Given the description of an element on the screen output the (x, y) to click on. 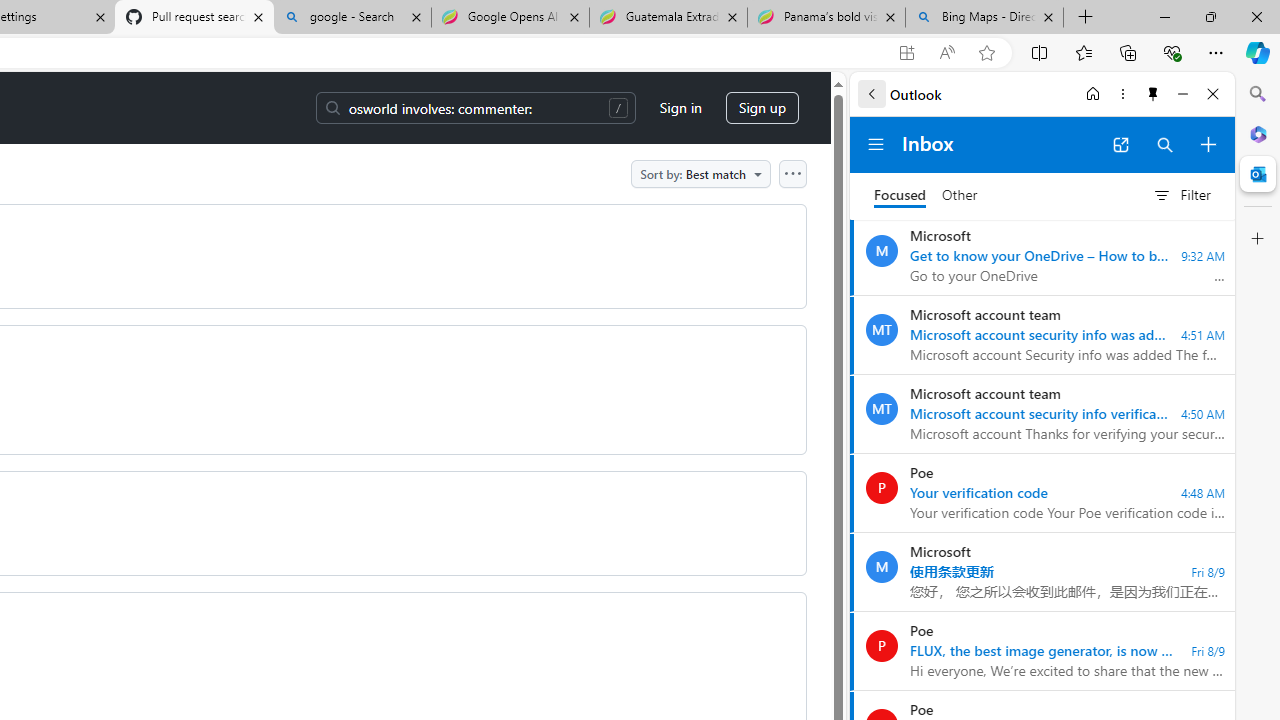
Compose new mail (1208, 144)
Focused Inbox, toggle to go to Other Inbox (925, 195)
Sign up (761, 107)
Folder navigation (876, 144)
